Given the description of an element on the screen output the (x, y) to click on. 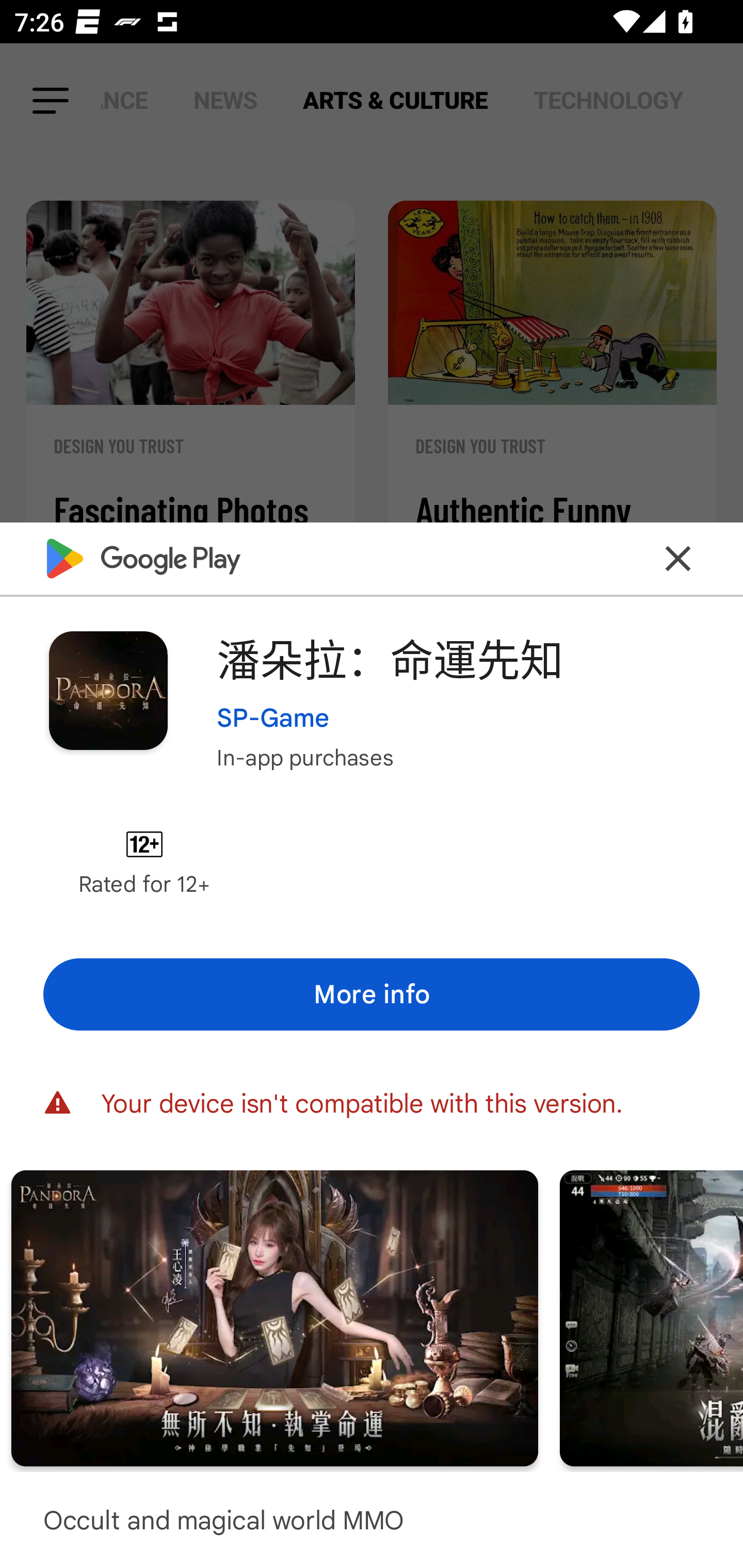
Close (677, 558)
Image of app or game icon for 潘朵拉：命運先知 (108, 690)
SP-Game (272, 716)
More info (371, 994)
Screenshot "2" of "6" (274, 1317)
